Given the description of an element on the screen output the (x, y) to click on. 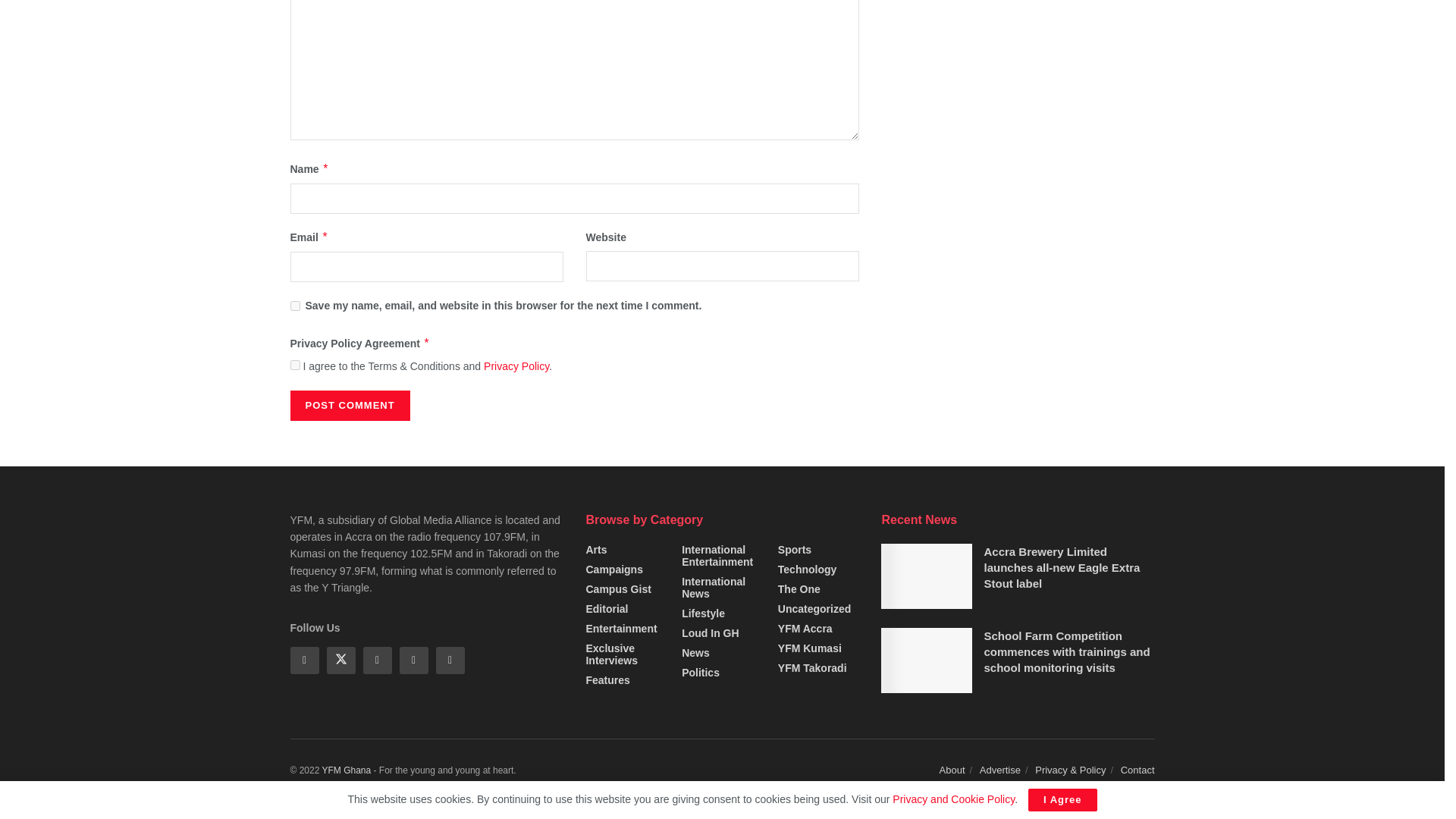
yes (294, 306)
YFM Ghana (346, 769)
on (294, 365)
Post Comment (349, 405)
